Given the description of an element on the screen output the (x, y) to click on. 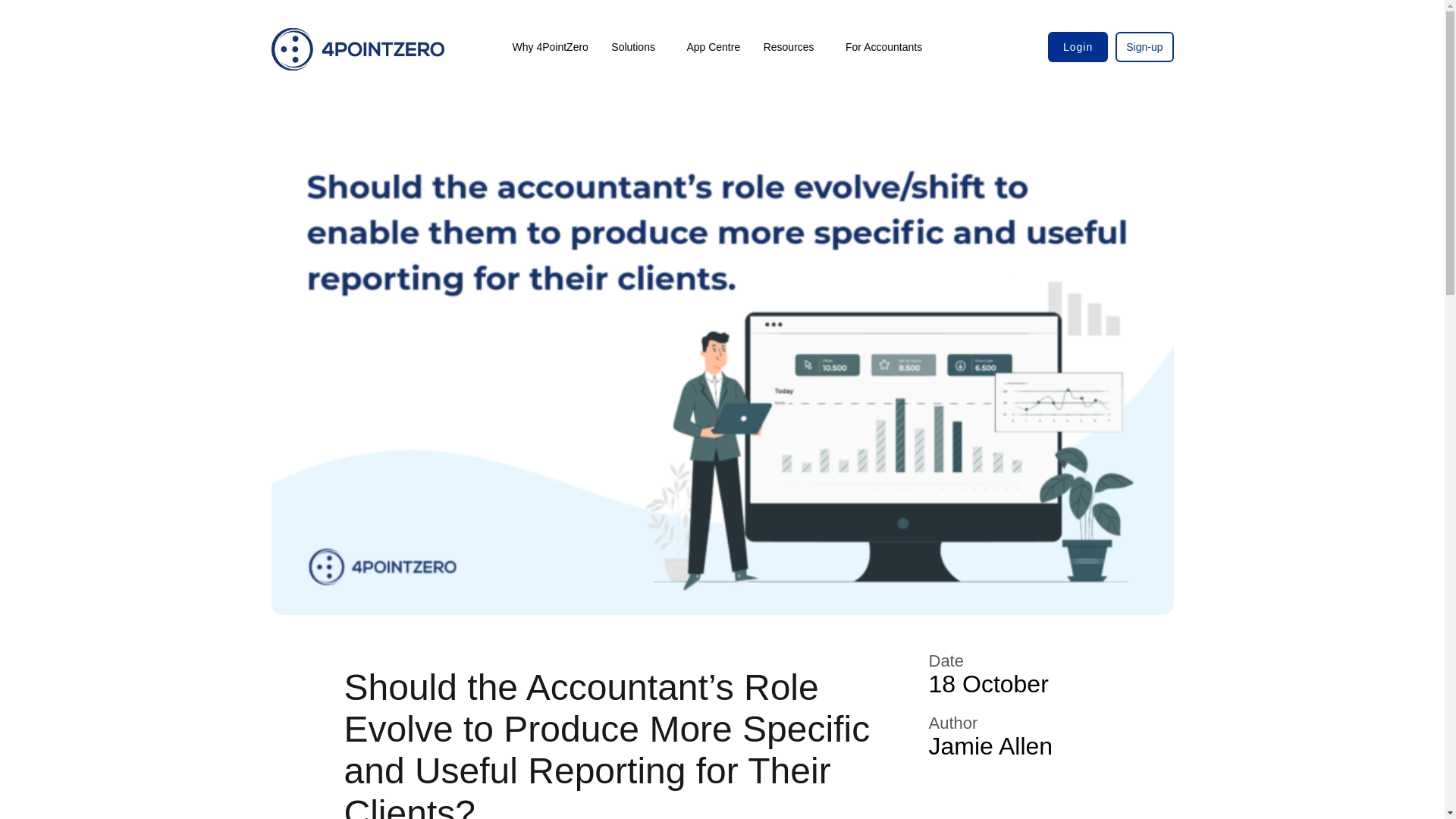
Login (1078, 46)
Why 4PointZero (549, 46)
Solutions (636, 46)
Resources (793, 46)
For Accountants (883, 46)
App Centre (713, 46)
Sign-up (1140, 46)
